Given the description of an element on the screen output the (x, y) to click on. 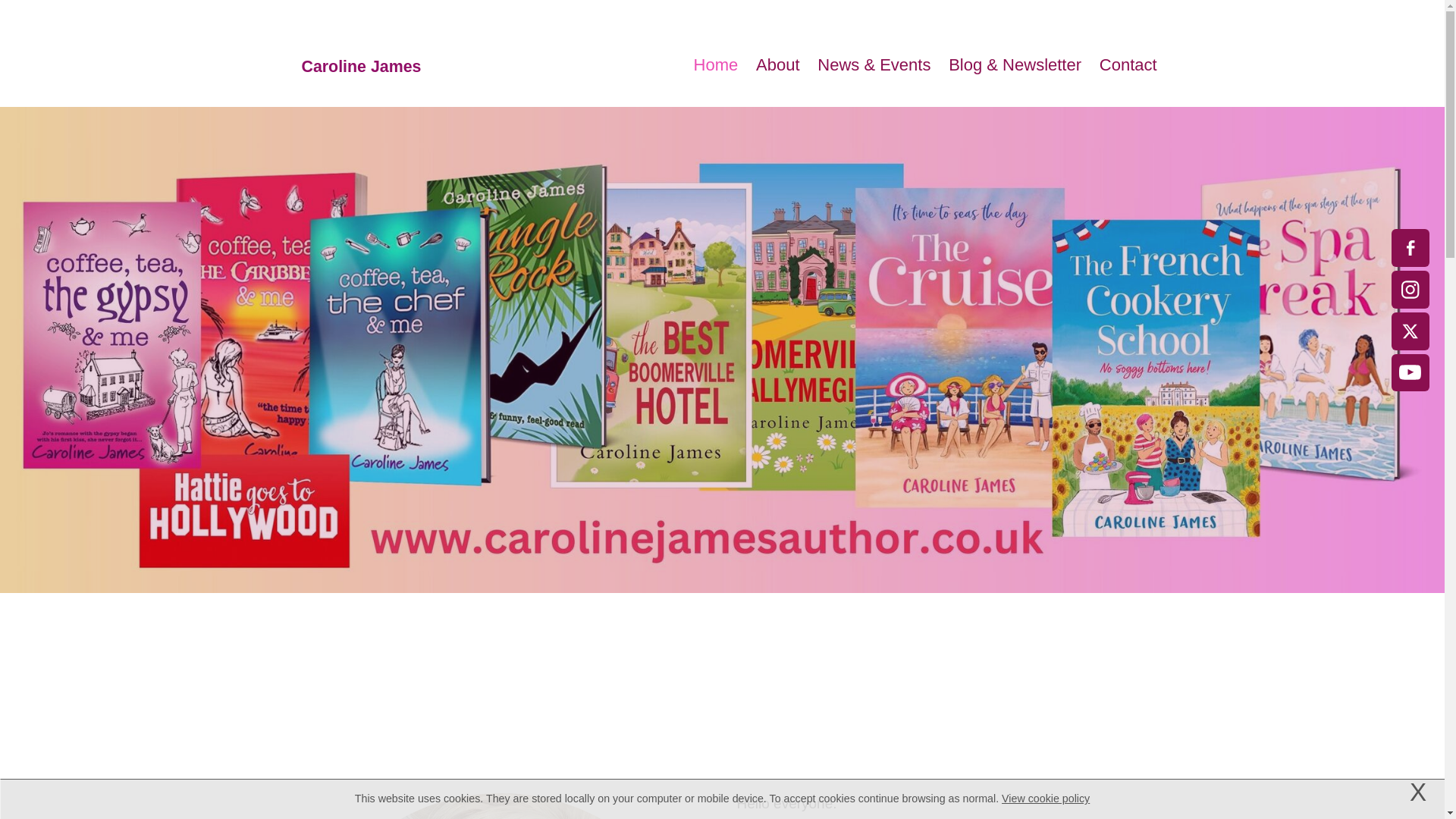
X (1417, 791)
A link to this website's Facebook. (1410, 247)
About (777, 64)
Contact (1128, 64)
A link to this website's X. (1410, 331)
View cookie policy (1045, 798)
A link to this website's Youtube. (1410, 371)
Home (715, 64)
A link to this website's Instagram. (1410, 289)
